Given the description of an element on the screen output the (x, y) to click on. 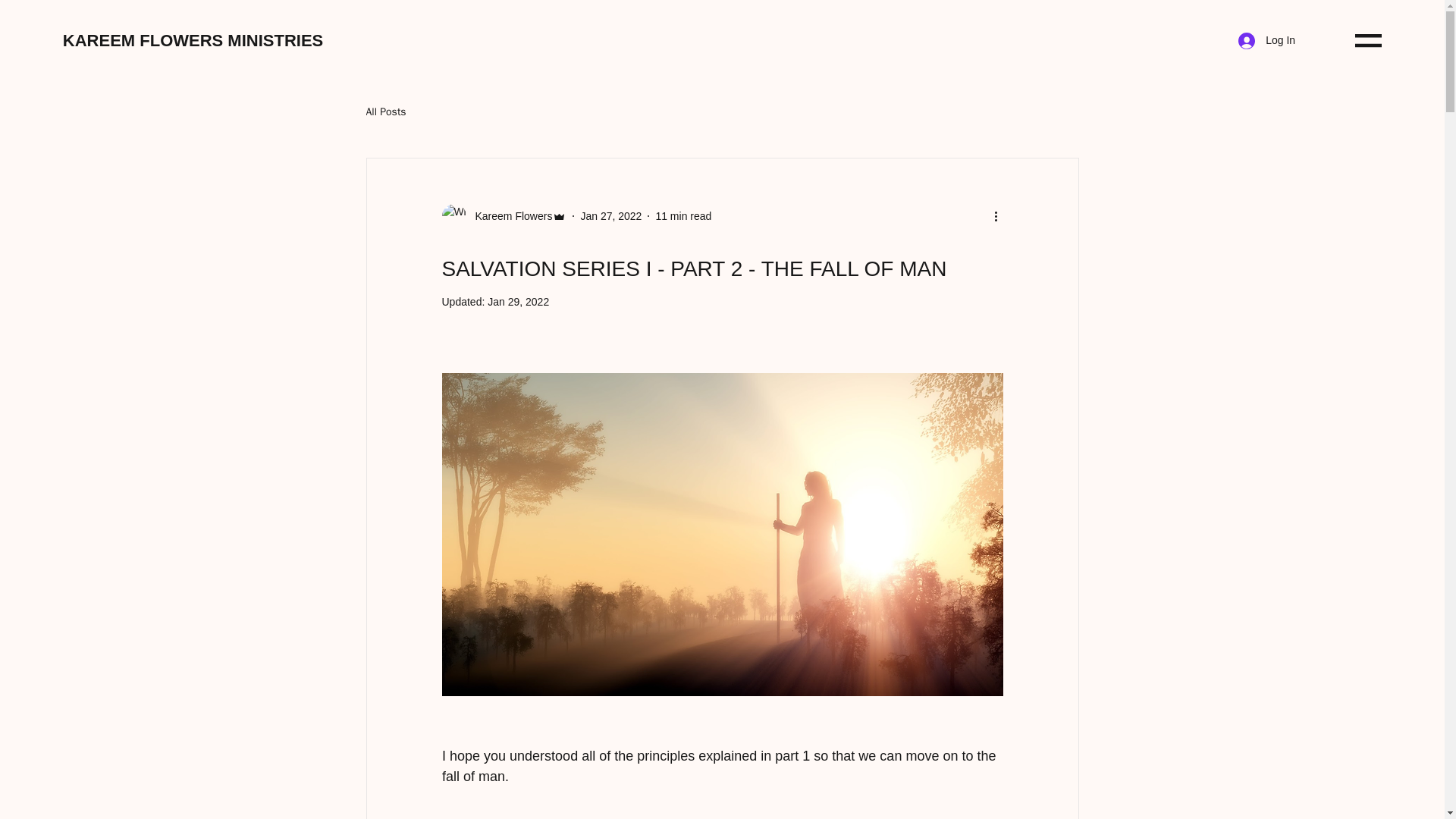
Jan 29, 2022 (517, 301)
KAREEM FLOWERS MINISTRIES (192, 40)
Log In (1266, 40)
Jan 27, 2022 (610, 215)
Kareem Flowers (508, 215)
Kareem Flowers (503, 215)
All Posts (385, 111)
11 min read (683, 215)
